Given the description of an element on the screen output the (x, y) to click on. 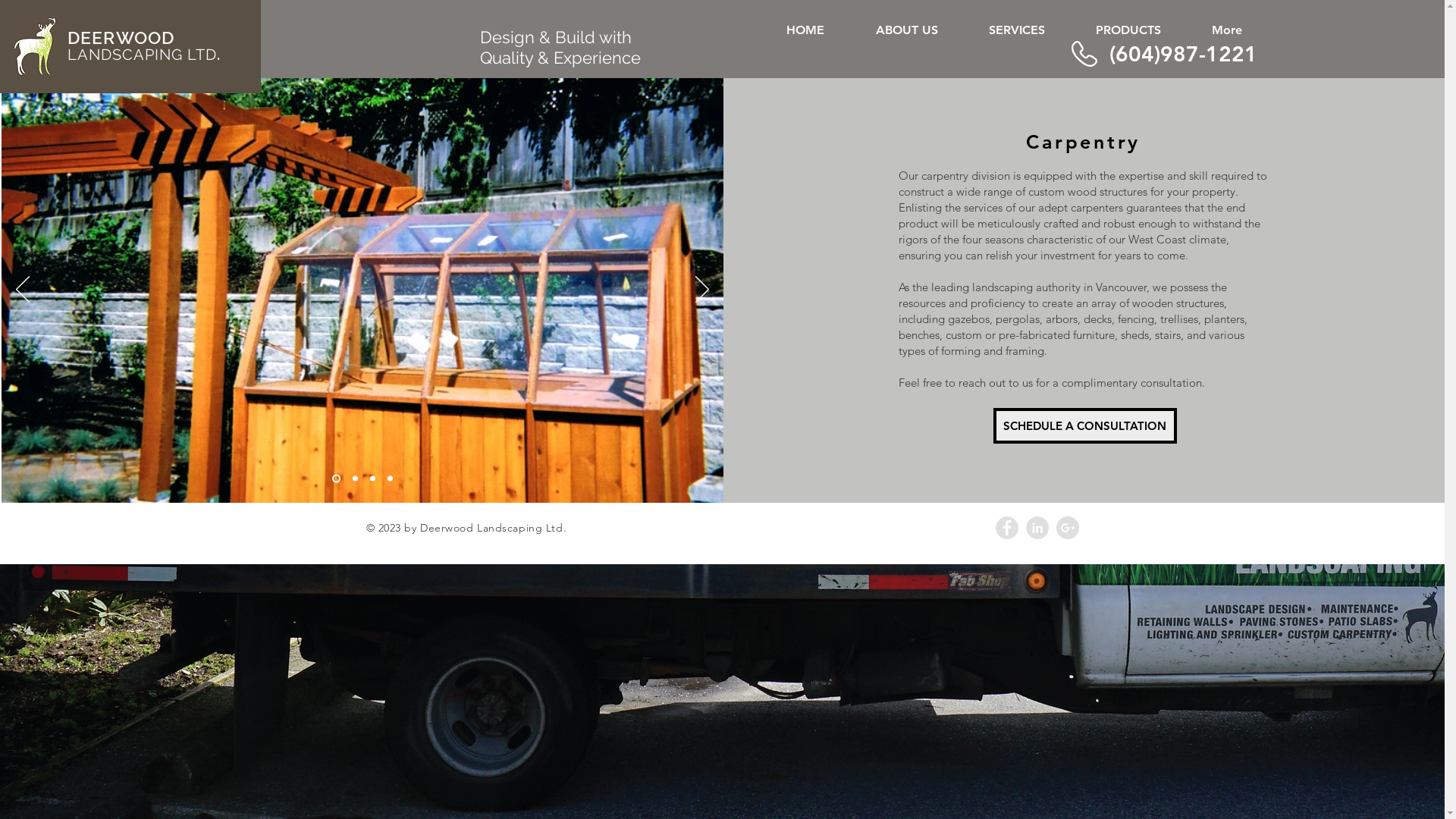
PRODUCTS Element type: text (1128, 29)
SCHEDULE A CONSULTATION Element type: text (1084, 425)
(604)987-1221 Element type: text (1182, 53)
LANDSCAPING LTD. Element type: text (143, 54)
HOME Element type: text (804, 29)
DEERWOOD Element type: text (120, 37)
ABOUT US Element type: text (906, 29)
SERVICES Element type: text (1016, 29)
